Given the description of an element on the screen output the (x, y) to click on. 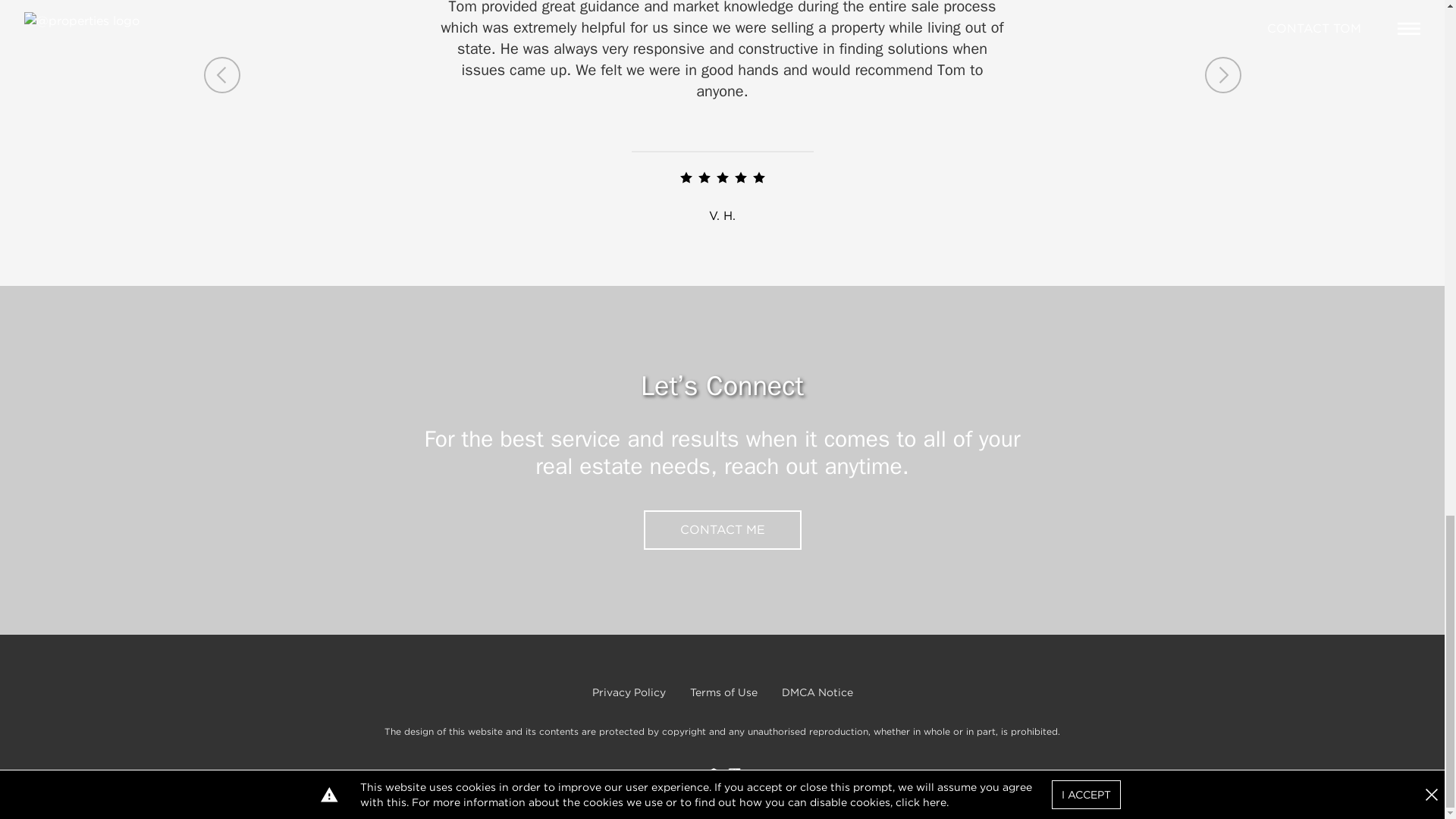
DMCA Notice (815, 692)
Terms of Use (723, 692)
Privacy Policy (628, 692)
CONTACT ME (721, 529)
